Given the description of an element on the screen output the (x, y) to click on. 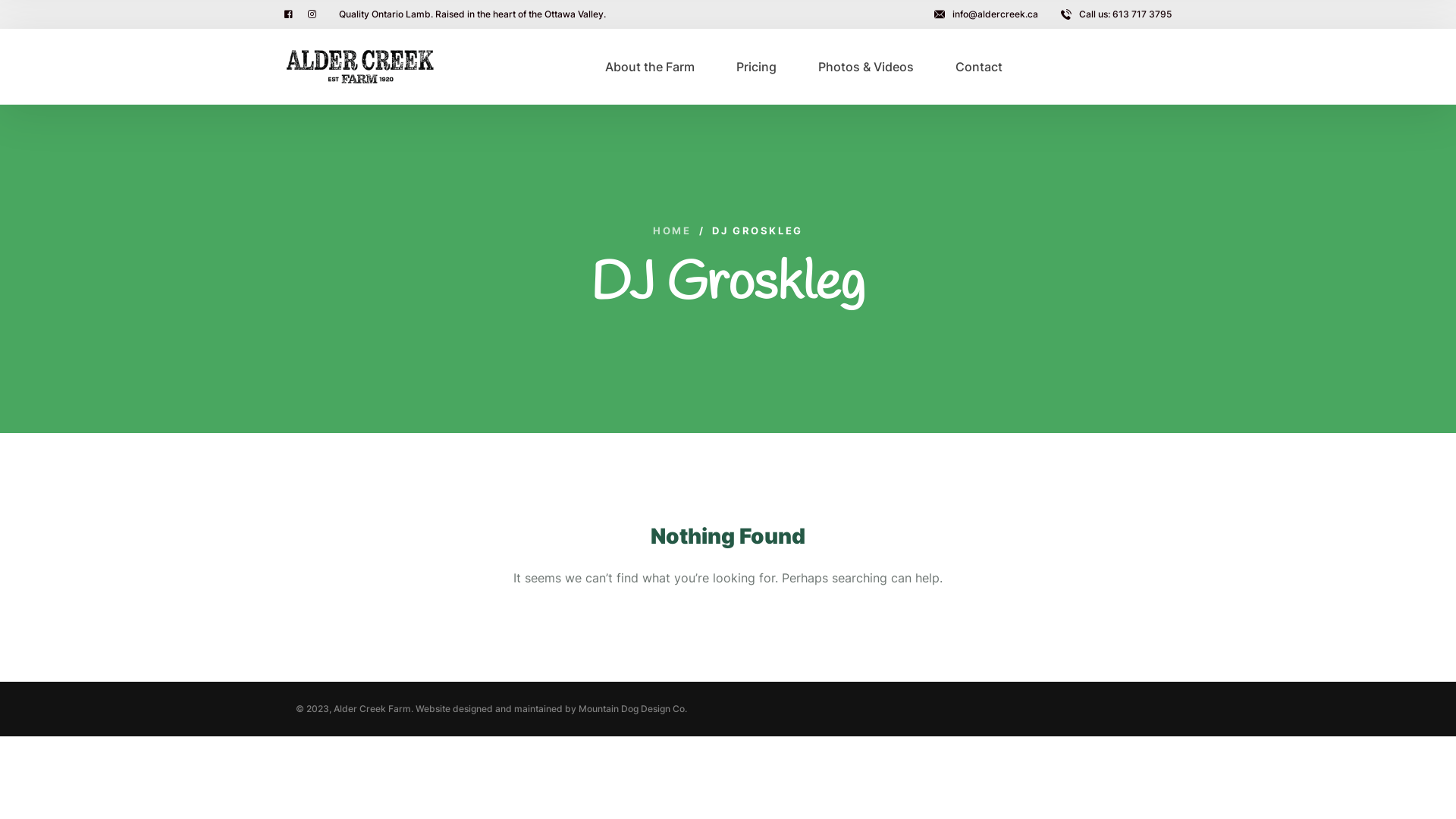
Contact Element type: text (978, 66)
Photos & Videos Element type: text (865, 66)
Call us: 613 717 3795 Element type: text (1115, 14)
Mountain Dog Design Co. Element type: text (632, 708)
HOME Element type: text (671, 230)
About the Farm Element type: text (649, 66)
Pricing Element type: text (756, 66)
info@aldercreek.ca Element type: text (986, 14)
Alder Creek Farm. Element type: text (373, 708)
